Given the description of an element on the screen output the (x, y) to click on. 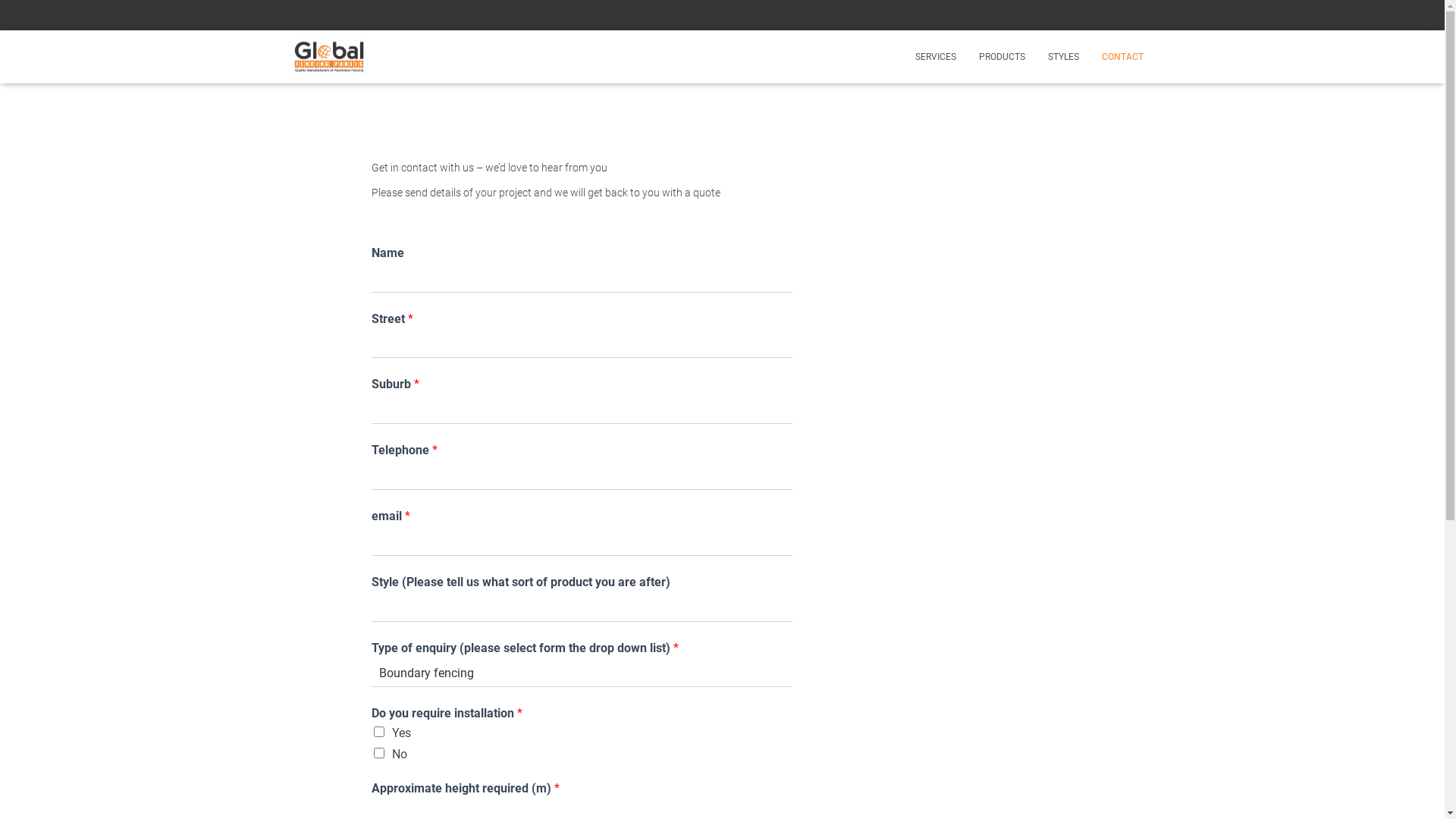
PRODUCTS Element type: text (1001, 56)
SERVICES Element type: text (935, 56)
CONTACT Element type: text (1122, 56)
STYLES Element type: text (1062, 56)
